Given the description of an element on the screen output the (x, y) to click on. 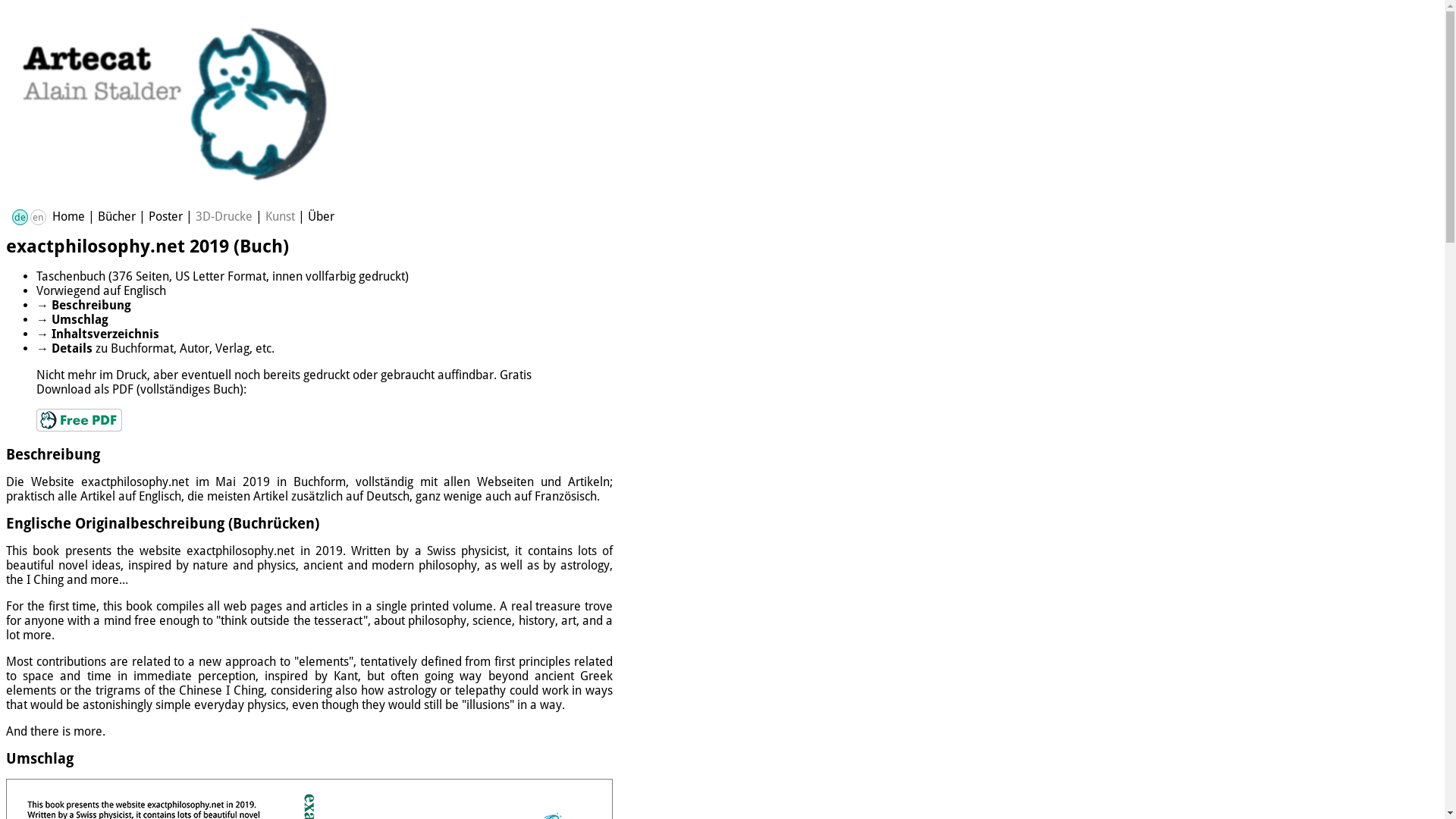
Umschlag Element type: text (79, 319)
Beschreibung Element type: text (91, 305)
exactphilosophy.net Element type: text (240, 550)
exactphilosophy.net Element type: text (134, 481)
de Element type: text (20, 217)
Poster Element type: text (165, 216)
en Element type: text (38, 217)
Inhaltsverzeichnis Element type: text (105, 333)
Details Element type: text (71, 348)
Home Element type: text (68, 216)
